Given the description of an element on the screen output the (x, y) to click on. 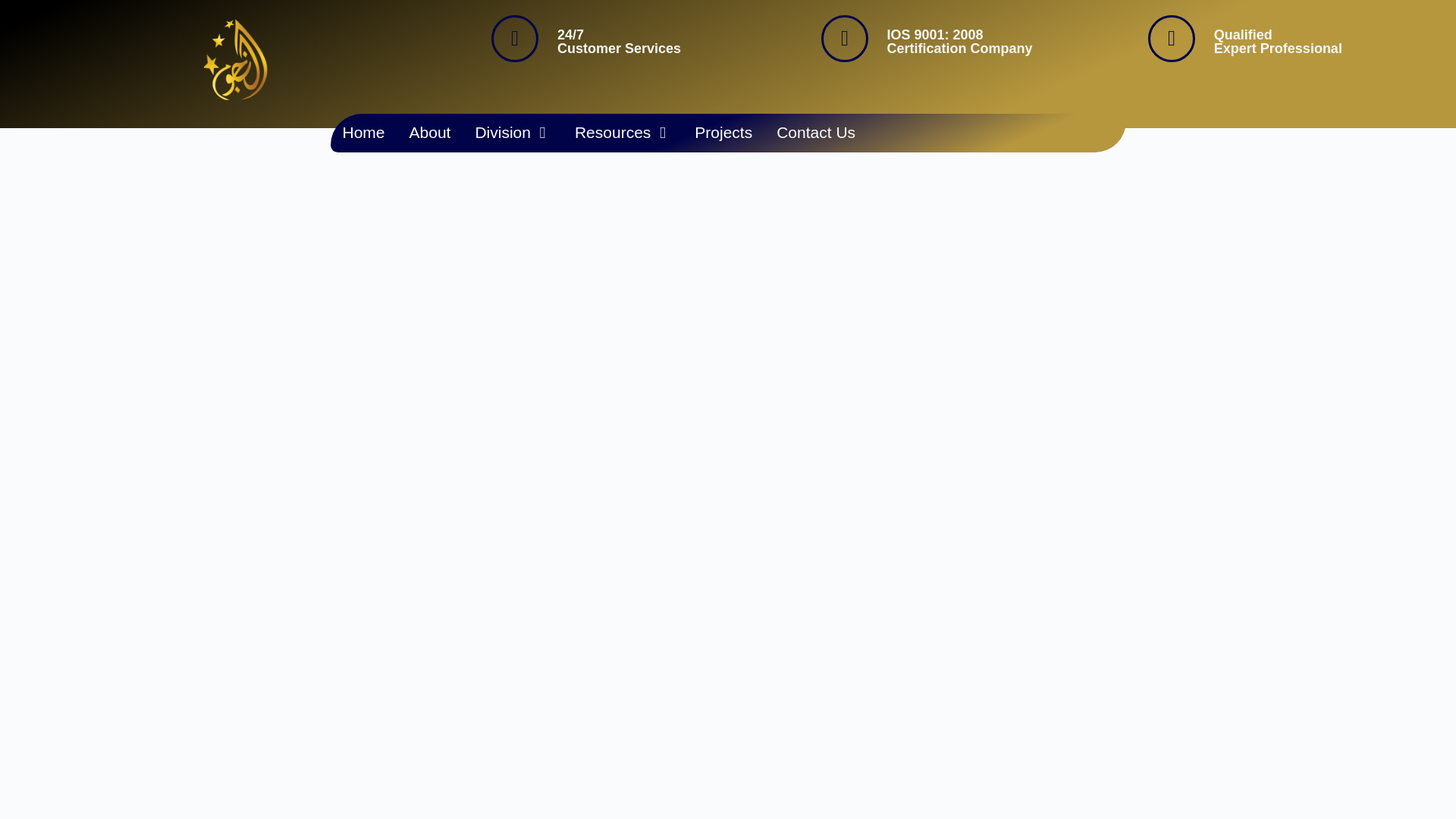
Home (363, 132)
About (430, 132)
Skip to content (15, 7)
Projects (723, 132)
Contact Us (816, 132)
